Given the description of an element on the screen output the (x, y) to click on. 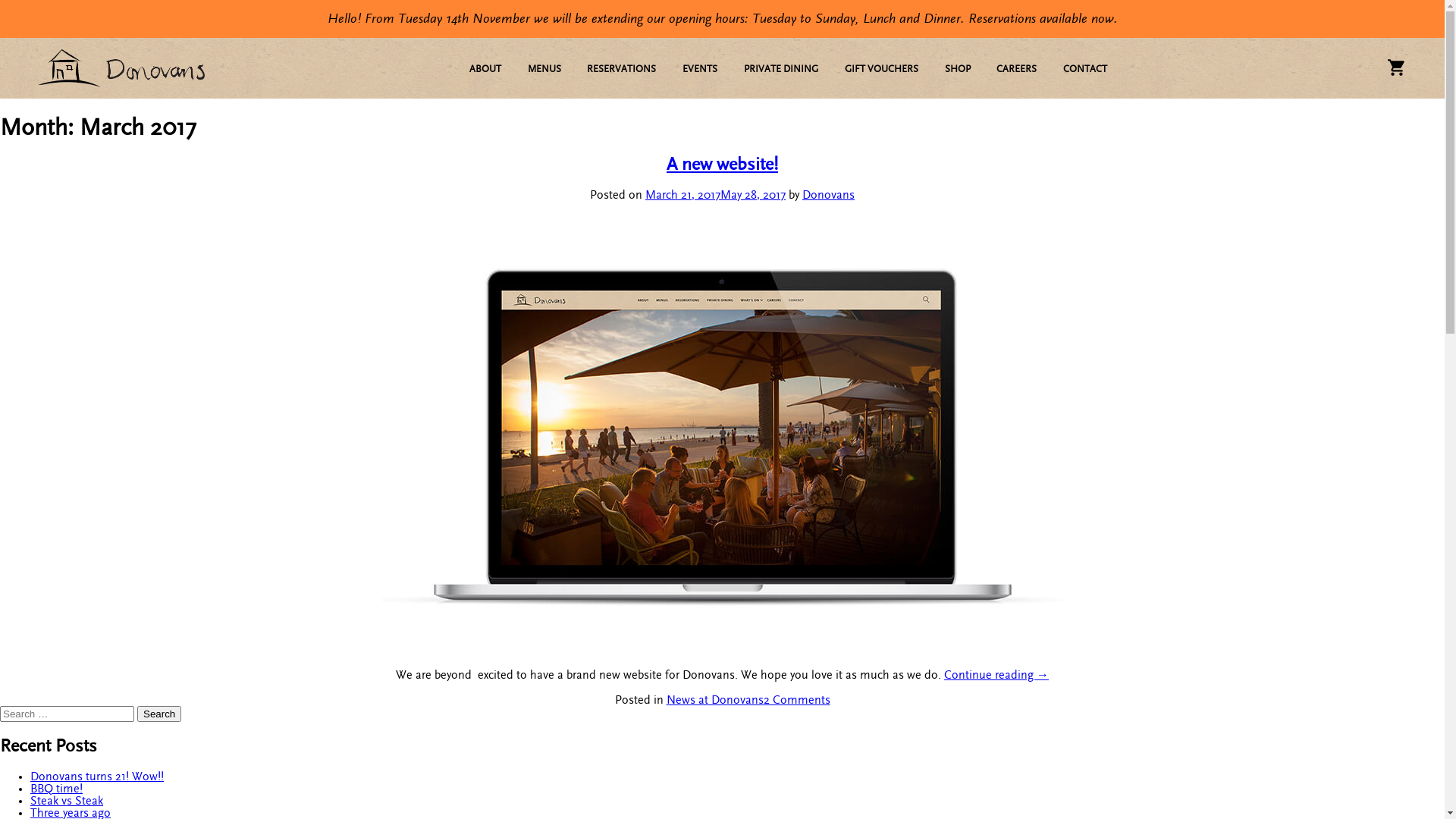
CAREERS Element type: text (1016, 69)
PRIVATE DINING Element type: text (780, 69)
RESERVATIONS Element type: text (620, 69)
SHOP Element type: text (957, 69)
News at Donovans Element type: text (713, 699)
2 Comments
on A new website! Element type: text (795, 699)
Search Element type: text (159, 713)
Steak vs Steak Element type: text (66, 800)
BBQ time! Element type: text (56, 788)
ABOUT Element type: text (485, 69)
MENUS Element type: text (544, 69)
Donovans turns 21! Wow!! Element type: text (96, 776)
Donovans Element type: text (828, 194)
March 21, 2017May 28, 2017 Element type: text (715, 194)
A new website! Element type: text (722, 164)
CONTACT Element type: text (1085, 69)
EVENTS Element type: text (699, 69)
GIFT VOUCHERS Element type: text (881, 69)
